Given the description of an element on the screen output the (x, y) to click on. 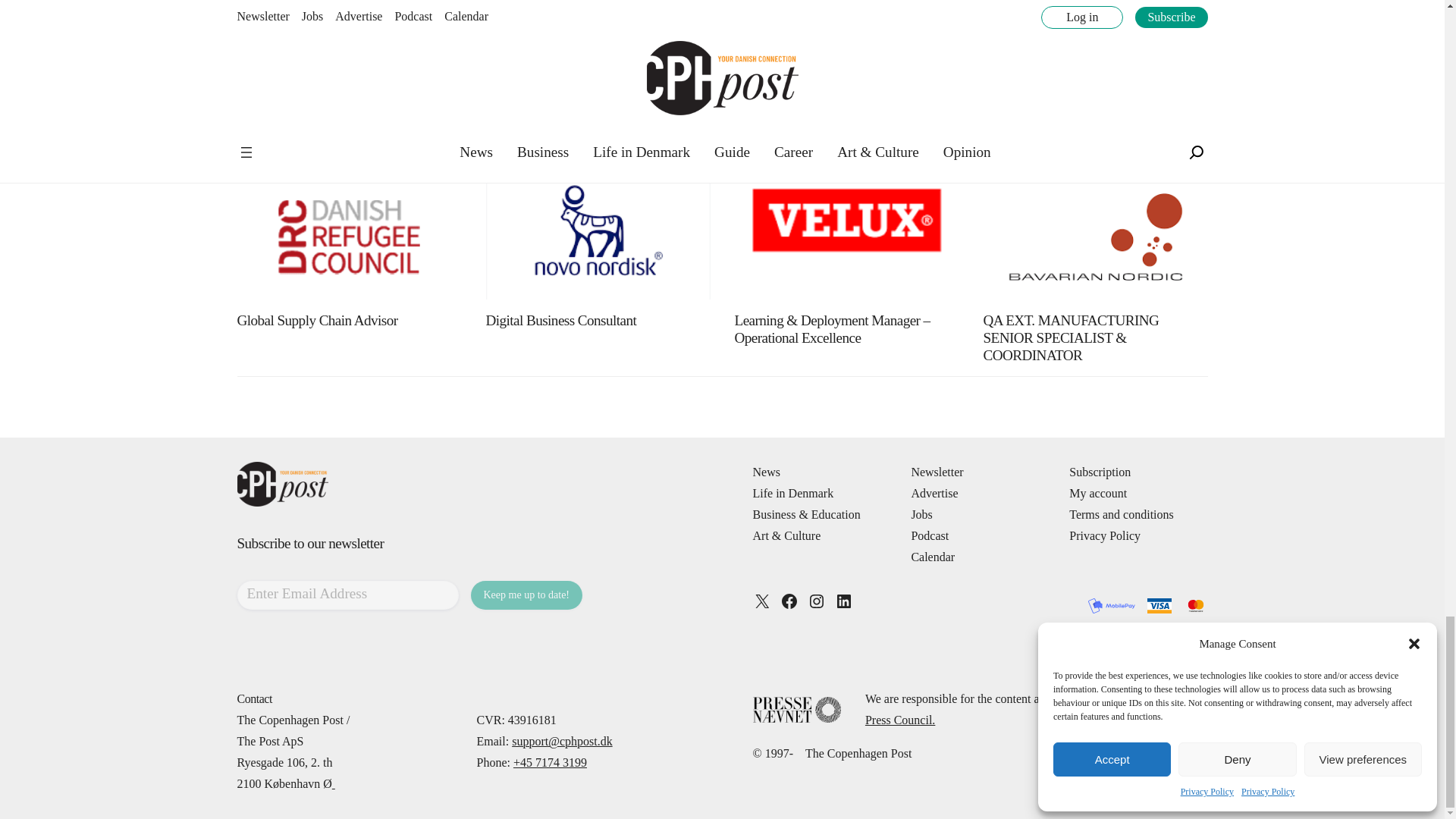
Keep me up to date! (526, 594)
